Given the description of an element on the screen output the (x, y) to click on. 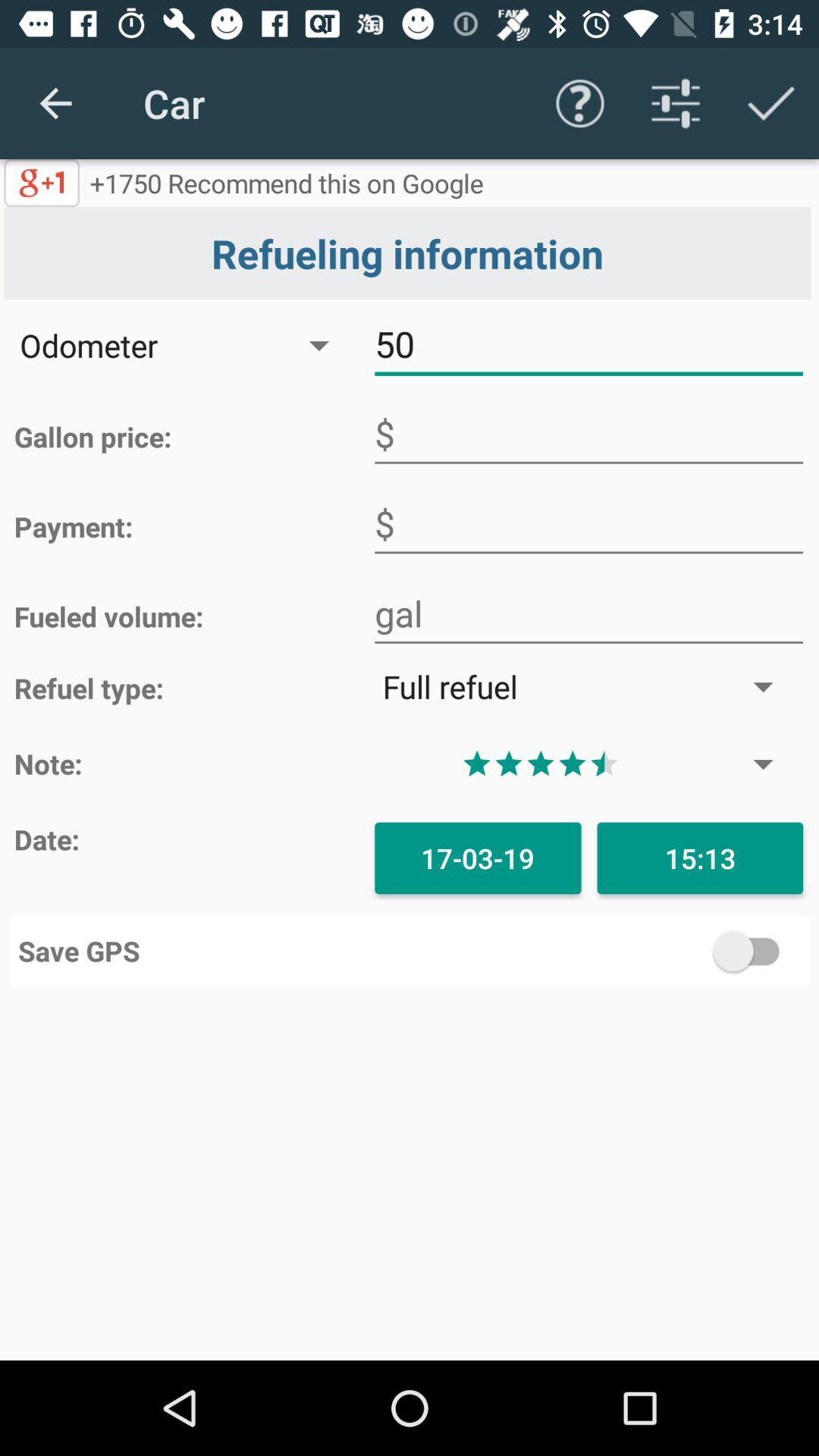
toggle save gps (604, 951)
